Given the description of an element on the screen output the (x, y) to click on. 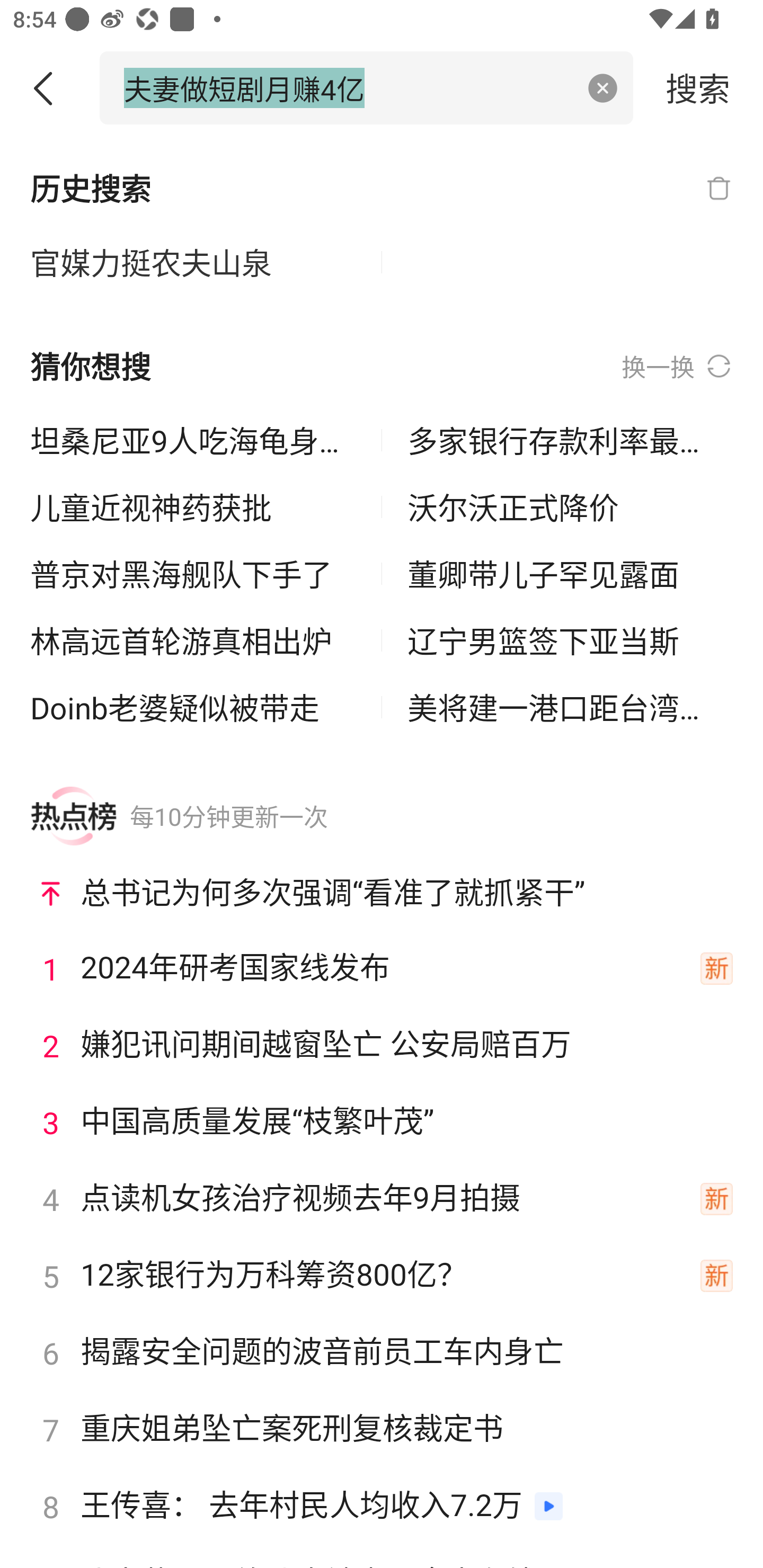
返回 (49, 87)
搜索 (698, 87)
夫妻做短剧月赚4亿 (347, 87)
清空 (602, 88)
官媒力挺农夫山泉 (193, 262)
换一换 (676, 366)
坦桑尼亚9人吃海龟身亡 (193, 439)
多家银行存款利率最高达10% (569, 439)
儿童近视神药获批 (193, 506)
沃尔沃正式降价 (569, 506)
普京对黑海舰队下手了 (193, 573)
董卿带儿子罕见露面 (569, 573)
林高远首轮游真相出炉 (193, 640)
辽宁男篮签下亚当斯 (569, 640)
Doinb老婆疑似被带走 (193, 707)
美将建一港口距台湾不到200公里 (569, 707)
